Given the description of an element on the screen output the (x, y) to click on. 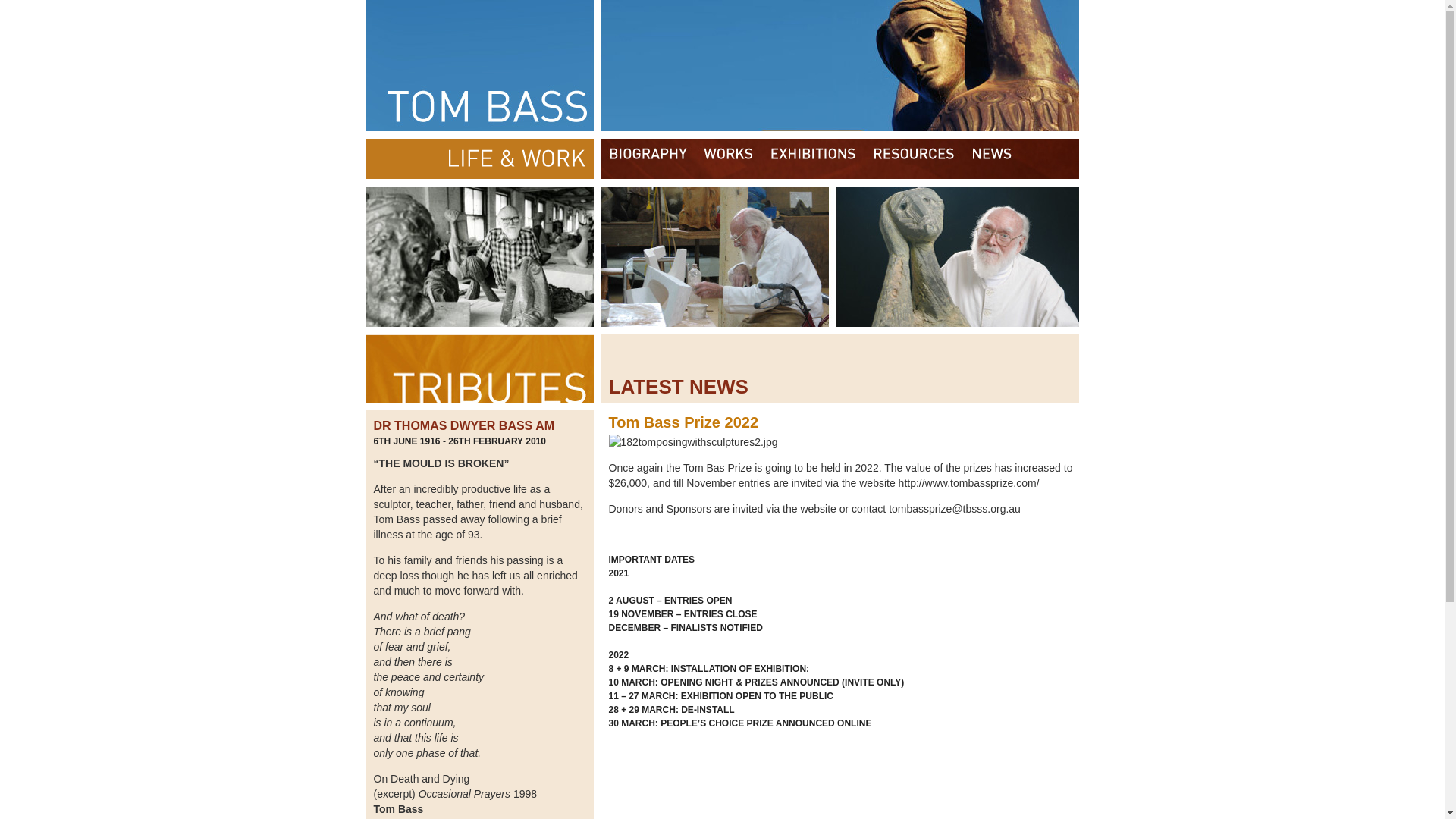
works Element type: text (727, 158)
news Element type: text (992, 158)
resources Element type: text (913, 158)
exhibitions Element type: text (812, 158)
biography Element type: text (647, 158)
Tom Bass Element type: text (721, 65)
